Given the description of an element on the screen output the (x, y) to click on. 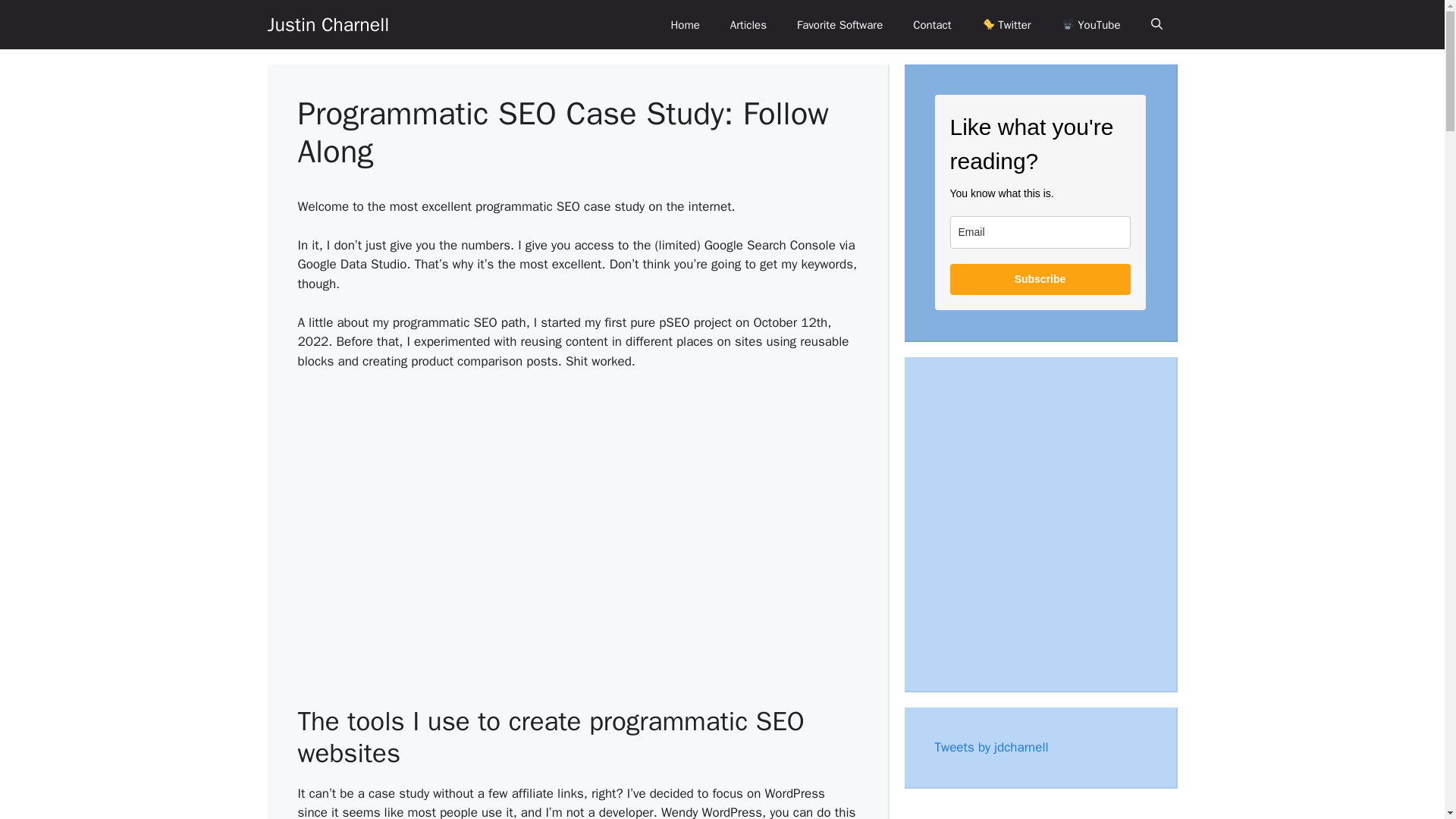
Justin Charnell (327, 24)
Contact (932, 23)
Twitter (1006, 23)
Home (684, 23)
Tweets by jdcharnell (991, 746)
Articles (747, 23)
YouTube (1090, 23)
Favorite Software (839, 23)
Subscribe (1039, 278)
